Given the description of an element on the screen output the (x, y) to click on. 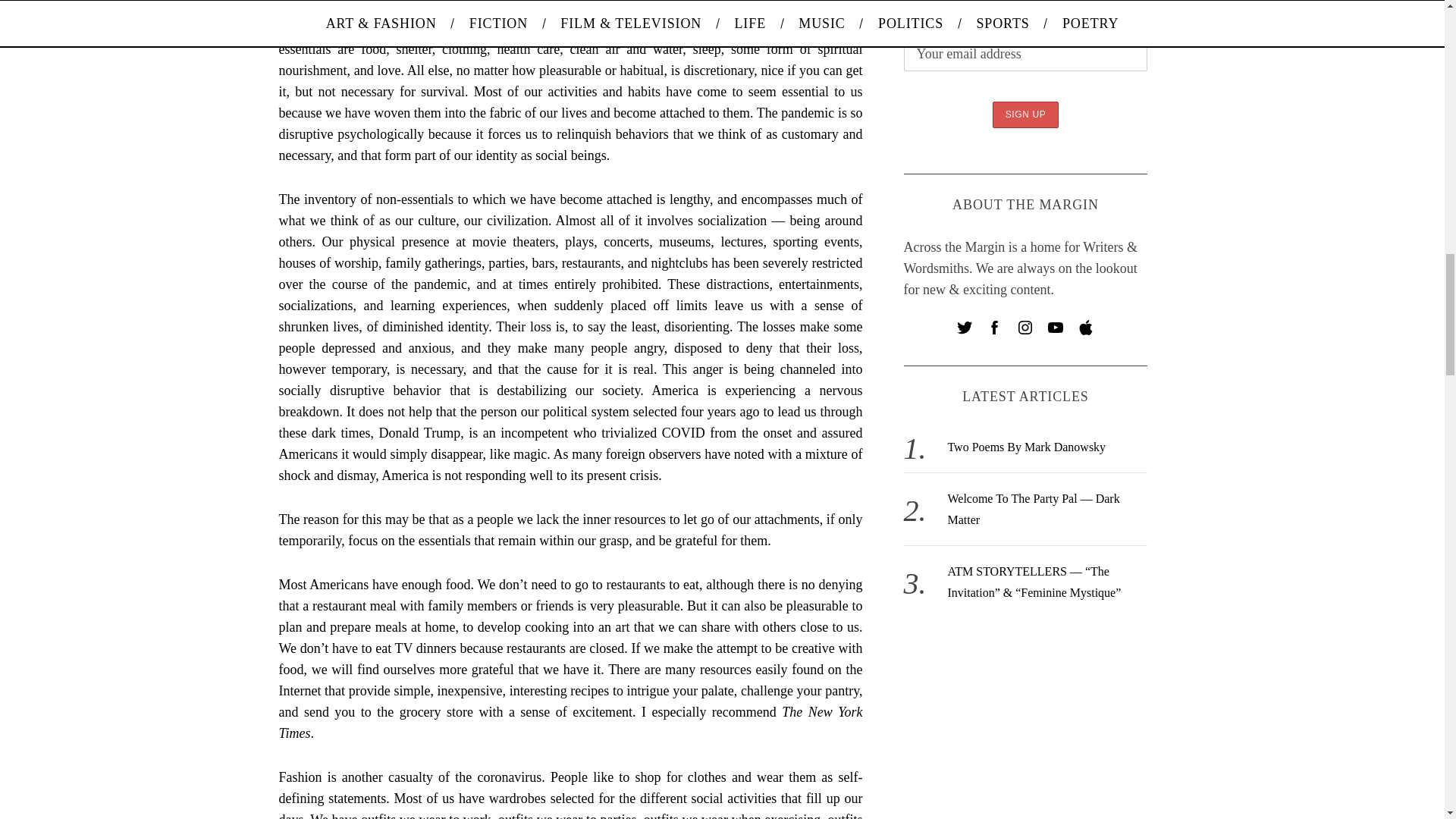
Sign up (1025, 114)
